Given the description of an element on the screen output the (x, y) to click on. 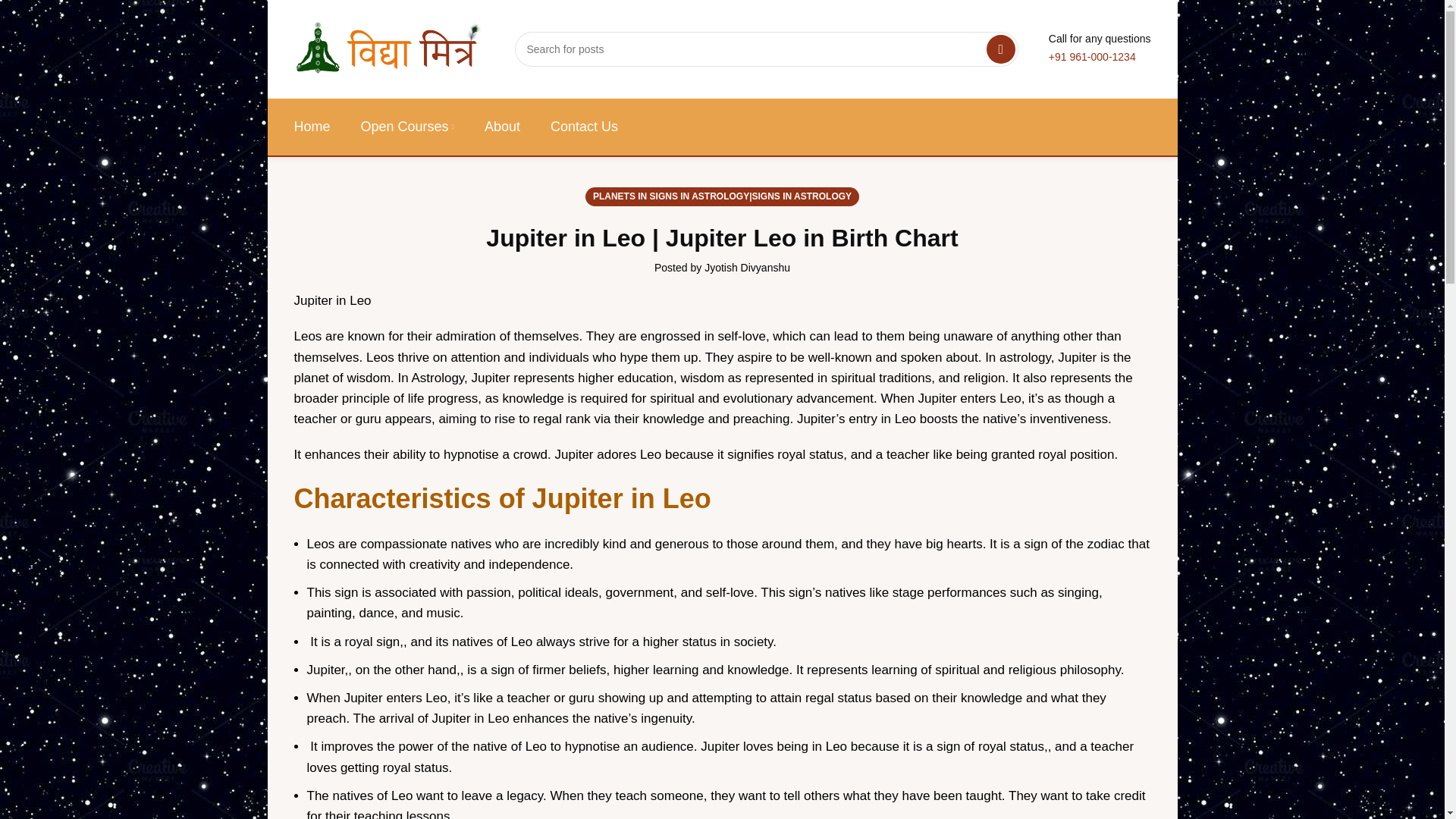
Home (312, 127)
Search for posts (765, 48)
Open Courses (407, 127)
Jyotish Divyanshu (747, 267)
Search (1000, 49)
Contact Us (583, 127)
About (501, 127)
